Given the description of an element on the screen output the (x, y) to click on. 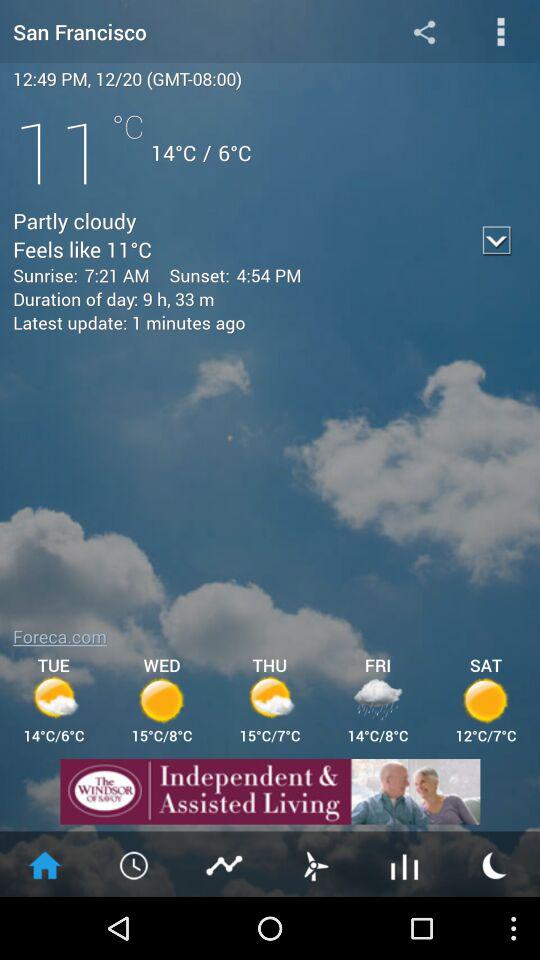
advertisement (270, 791)
